Given the description of an element on the screen output the (x, y) to click on. 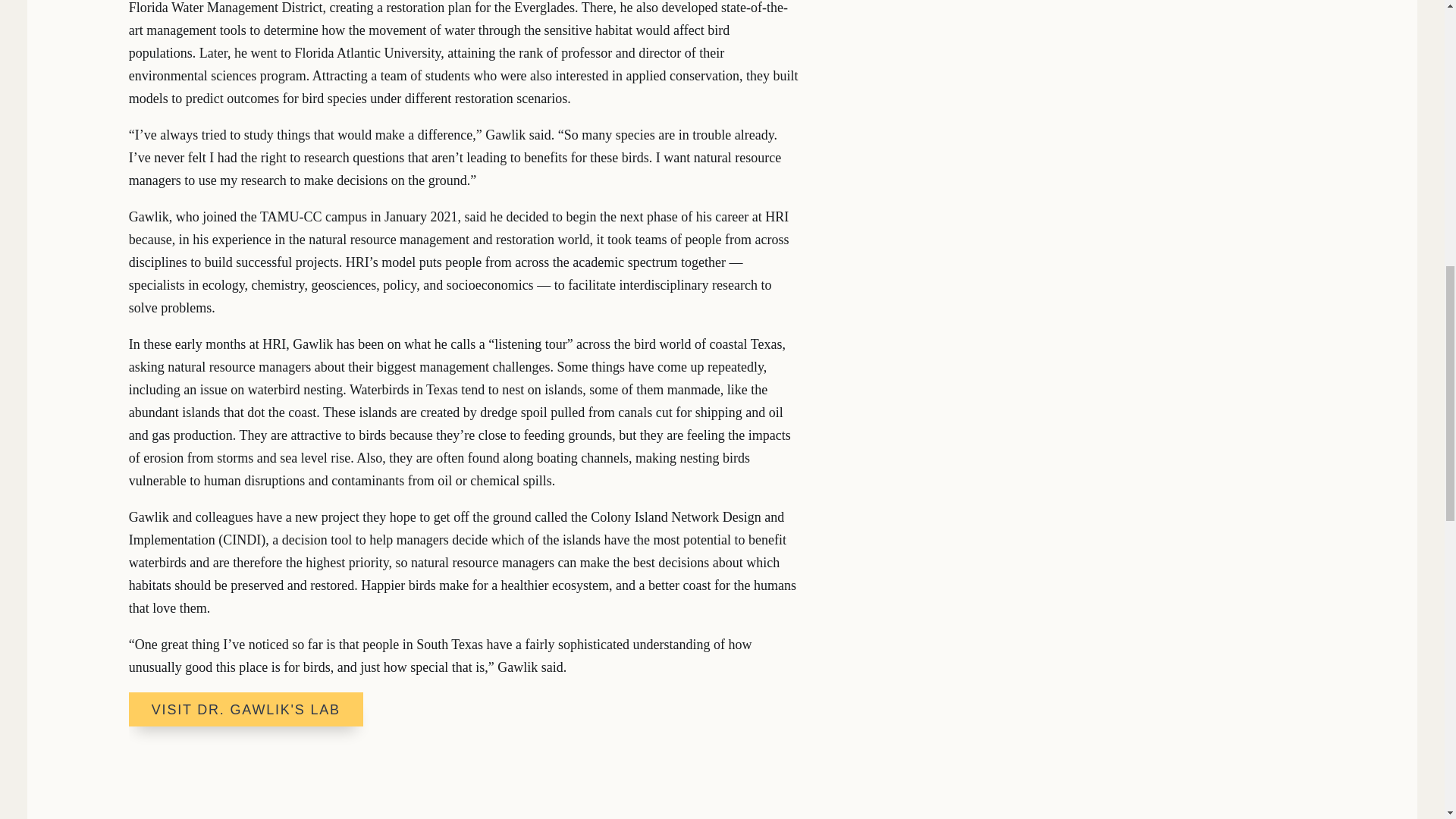
VISIT DR. GAWLIK'S LAB (245, 709)
